Given the description of an element on the screen output the (x, y) to click on. 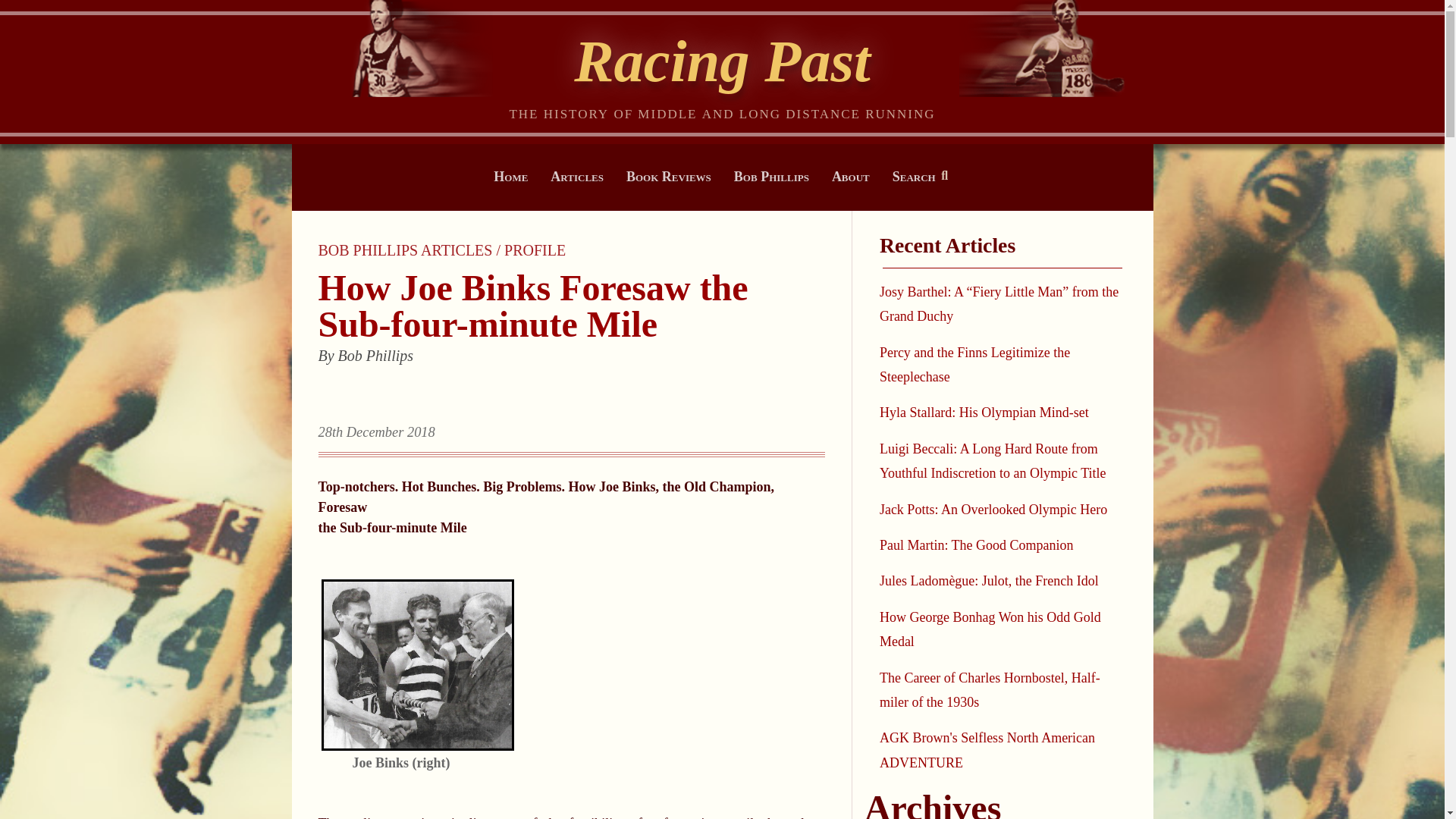
Articles (577, 176)
Racing Past (721, 60)
Home (510, 176)
